Given the description of an element on the screen output the (x, y) to click on. 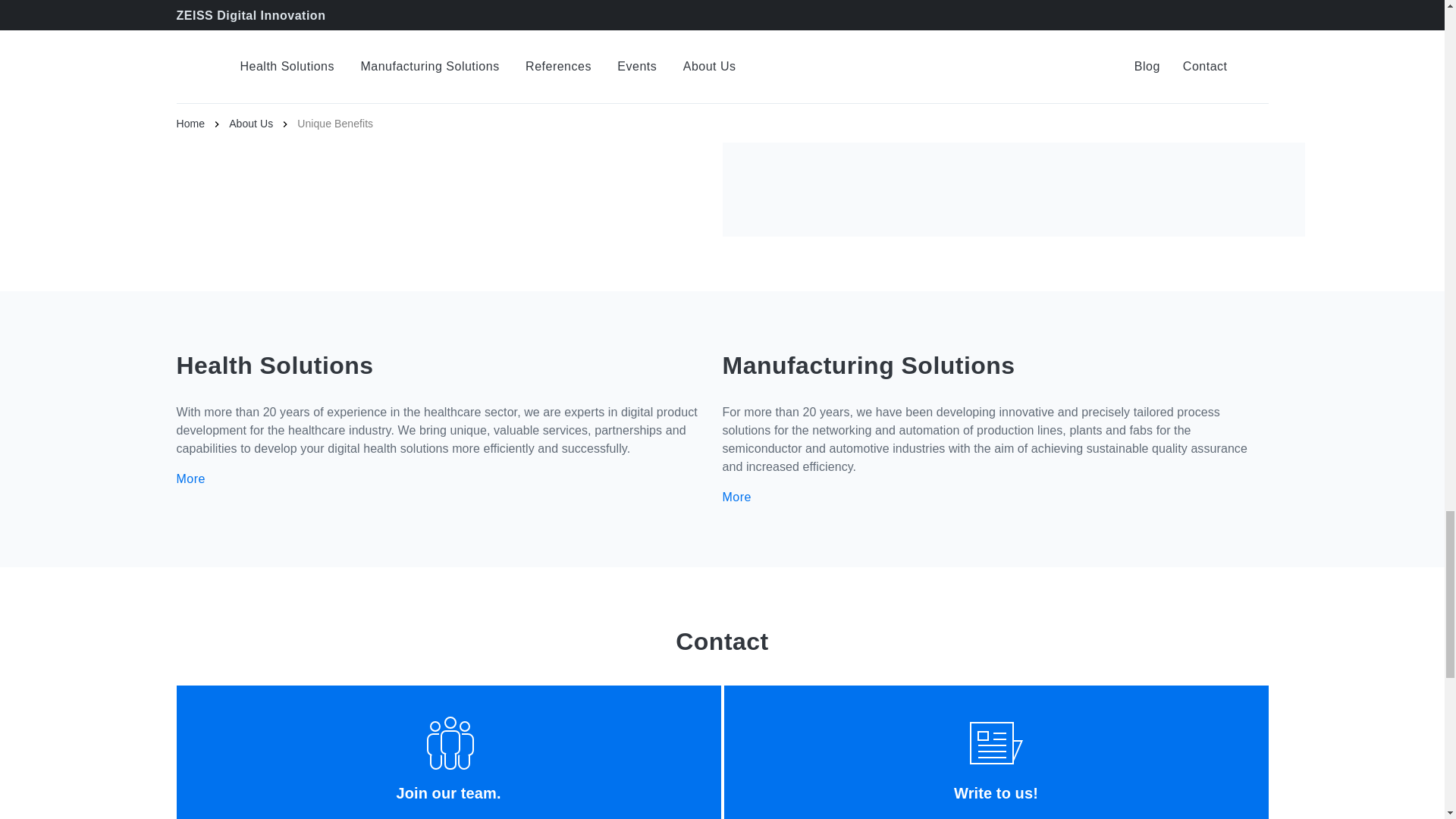
More (748, 497)
More (202, 479)
